Given the description of an element on the screen output the (x, y) to click on. 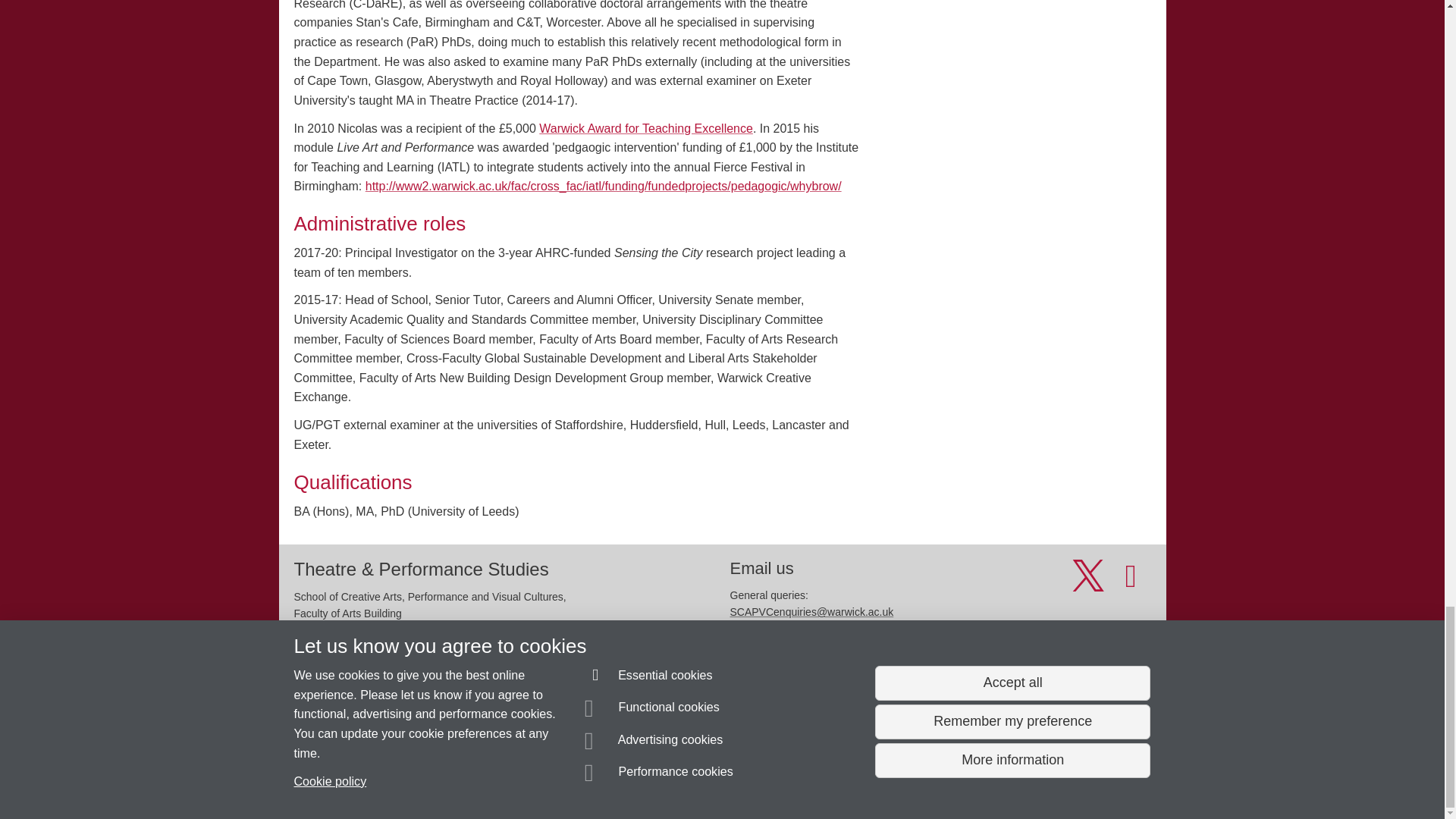
Information about cookies (467, 780)
Copyright Statement (514, 780)
Terms of use (708, 780)
Send an email to Nicolas Whybrow (387, 751)
More information about SiteBuilder (365, 780)
Privacy notice (673, 780)
